Given the description of an element on the screen output the (x, y) to click on. 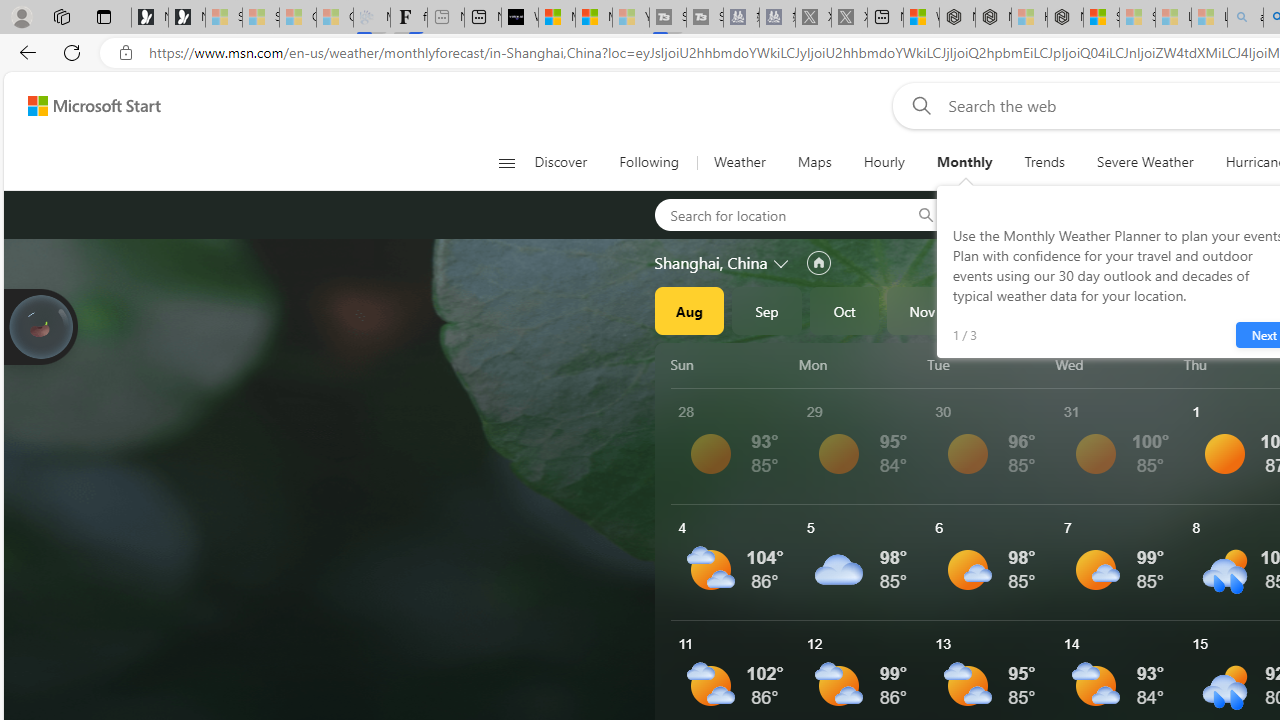
Severe Weather (1145, 162)
2025 Jan (1077, 310)
Aberdeen (1014, 214)
Mar (1233, 310)
Nov (922, 310)
Join us in planting real trees to help our planet! (40, 325)
